Given the description of an element on the screen output the (x, y) to click on. 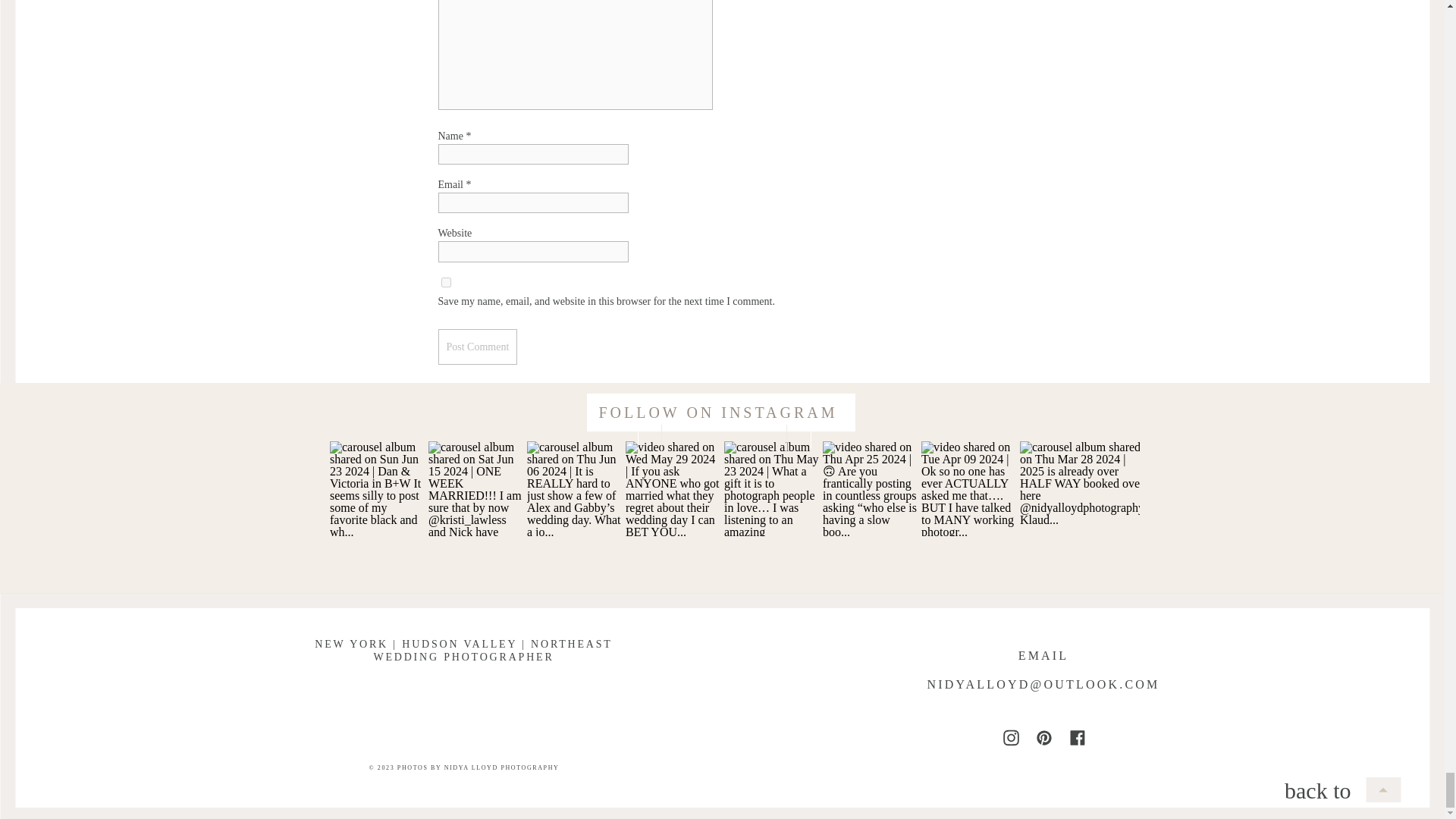
yes (446, 282)
Instagram-color Created with Sketch. (1011, 737)
FOLLOW ON INSTAGRAM (717, 416)
Facebook Copy-color Created with Sketch. (1077, 737)
Post Comment (478, 346)
Post Comment (478, 346)
